Given the description of an element on the screen output the (x, y) to click on. 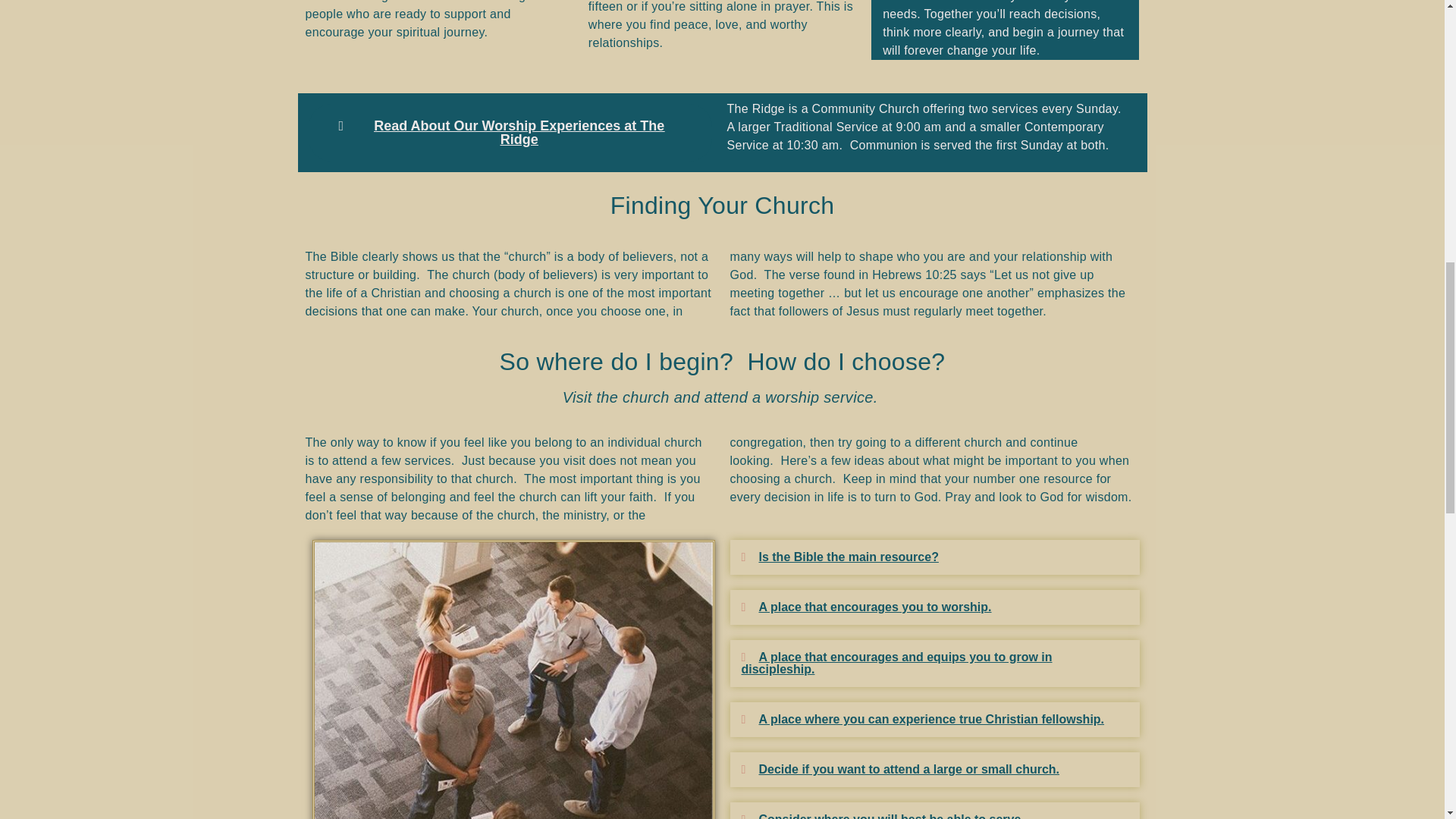
A place where you can experience true Christian fellowship. (930, 718)
Consider where you will best be able to serve. (890, 816)
Is the Bible the main resource? (847, 556)
Read About Our Worship Experiences at The Ridge (509, 132)
Decide if you want to attend a large or small church. (908, 768)
A place that encourages you to worship. (874, 606)
